Given the description of an element on the screen output the (x, y) to click on. 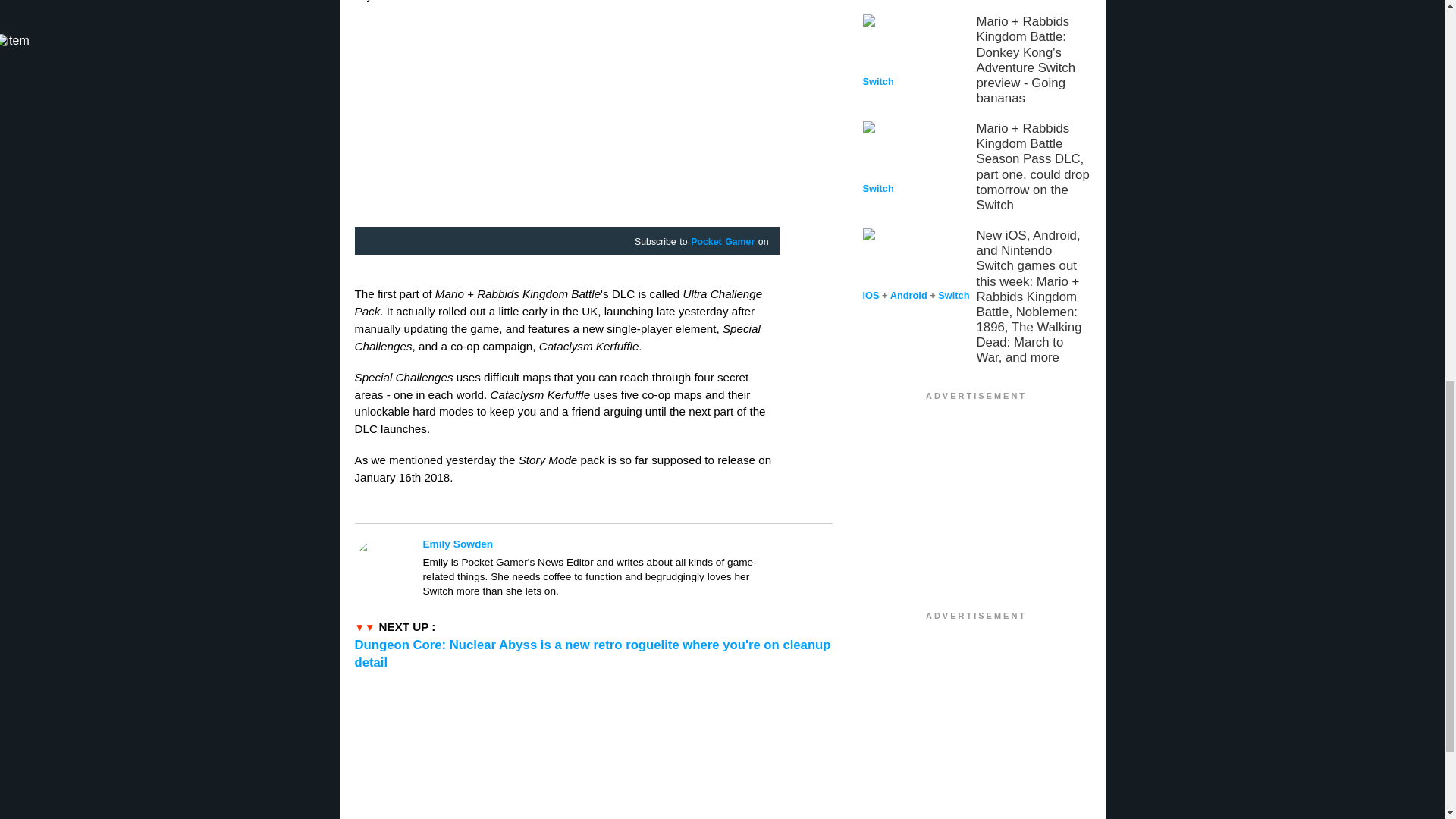
Pocket Gamer (722, 242)
Emily Sowden (600, 544)
